Given the description of an element on the screen output the (x, y) to click on. 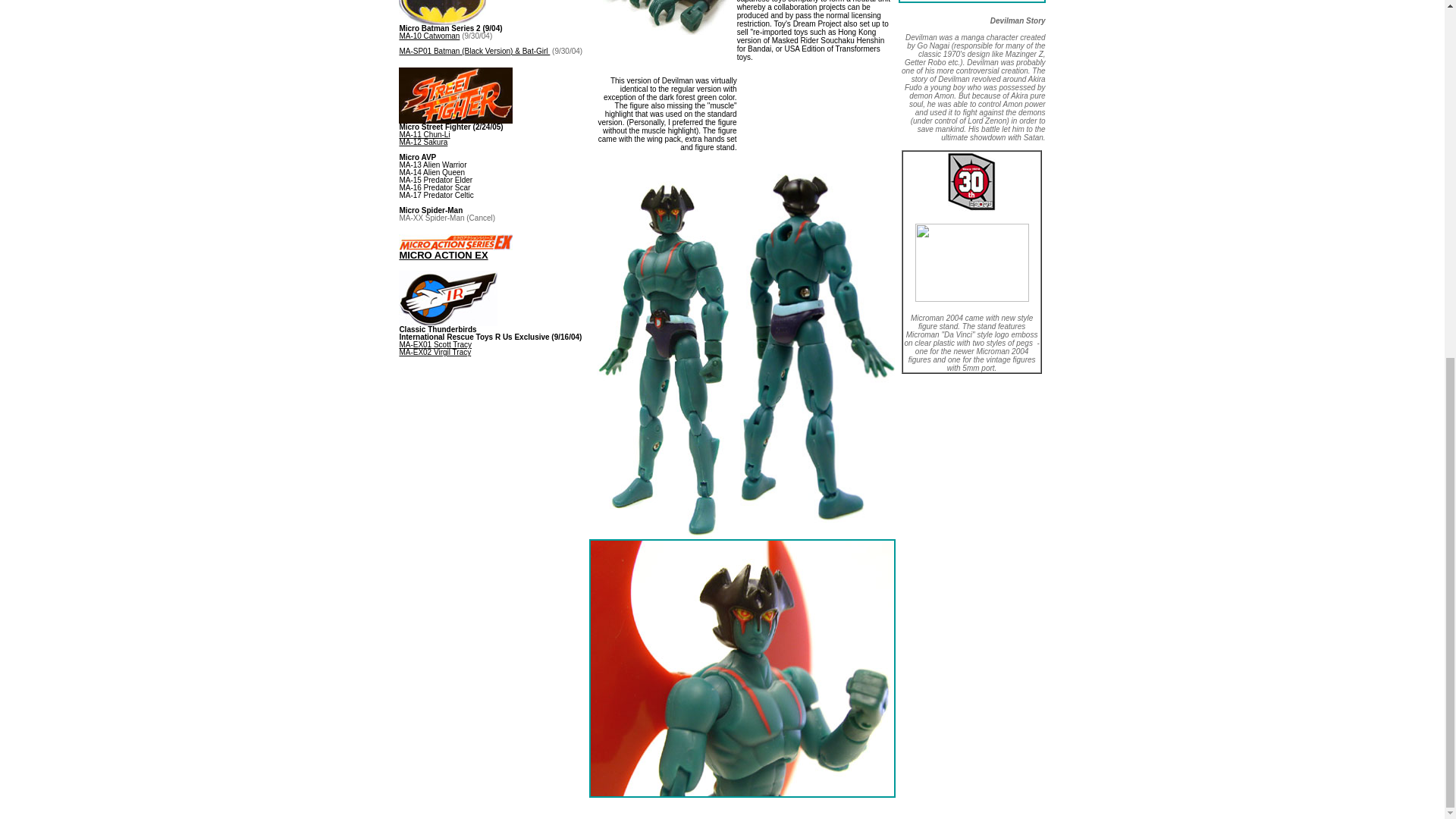
MA-10 Catwoman (429, 35)
MA-EX02 Virgil Tracy (434, 352)
MA-12 Sakura (422, 142)
MA-EX01 Scott Tracy (434, 344)
MA-11 Chun-Li (423, 134)
